Given the description of an element on the screen output the (x, y) to click on. 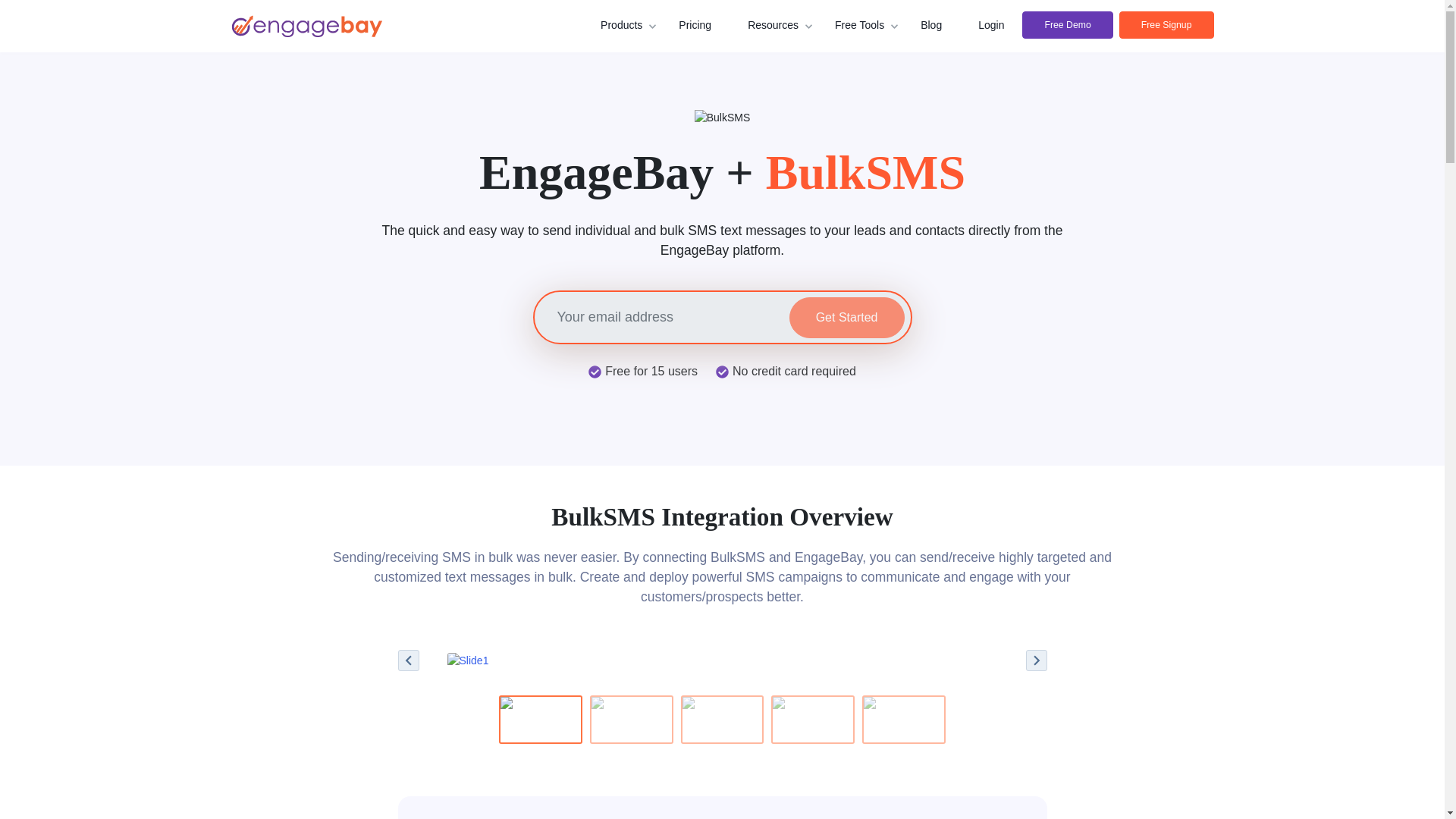
Products (620, 25)
